Given the description of an element on the screen output the (x, y) to click on. 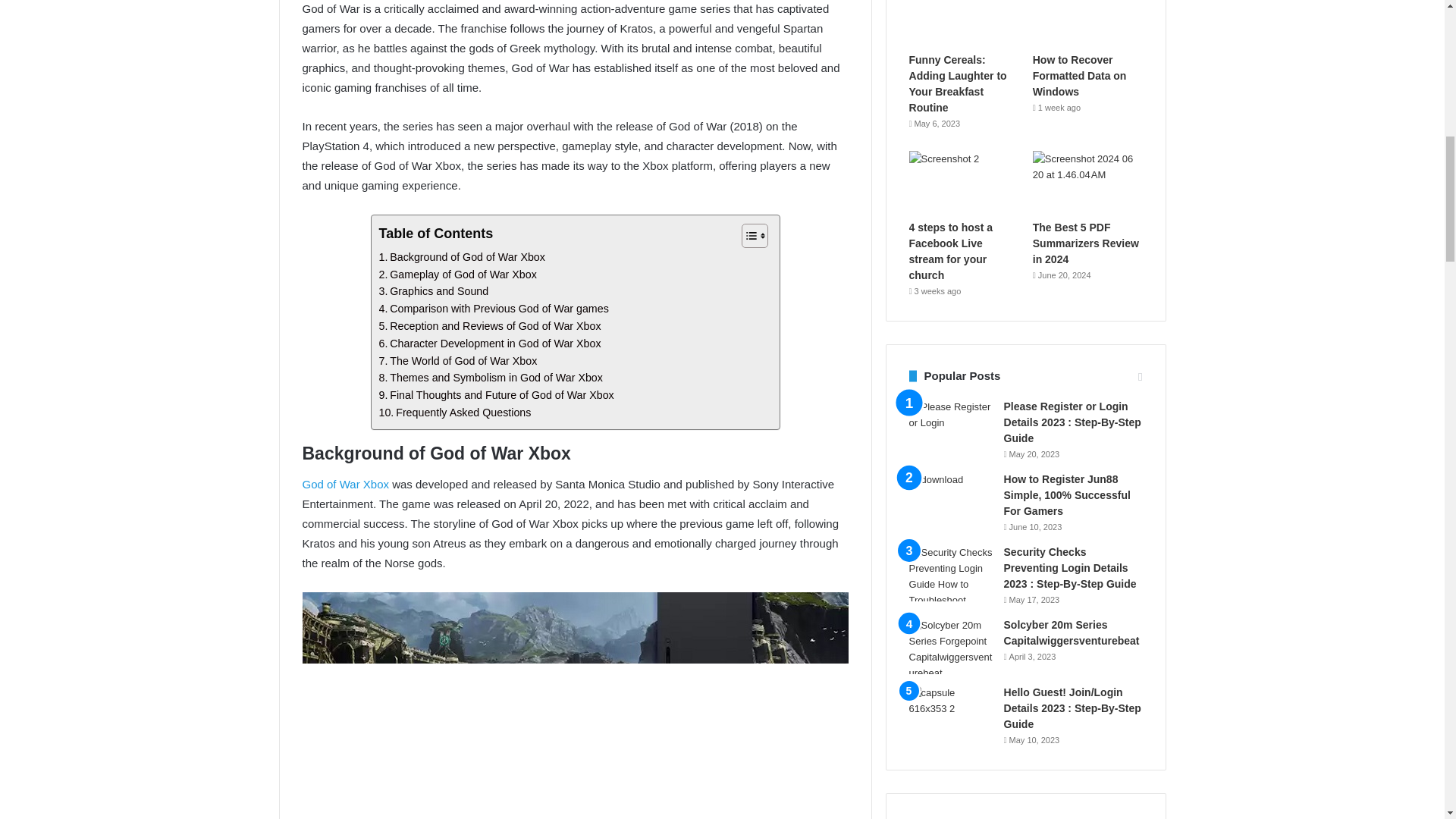
Final Thoughts and Future of God of War Xbox (496, 395)
Comparison with Previous God of War games (493, 308)
Themes and Symbolism in God of War Xbox (490, 377)
Graphics and Sound (433, 291)
Graphics and Sound (433, 291)
Character Development in God of War Xbox (489, 343)
Reception and Reviews of God of War Xbox (489, 325)
Frequently Asked Questions (454, 412)
The World of God of War Xbox (457, 361)
Background of God of War Xbox (461, 257)
